Given the description of an element on the screen output the (x, y) to click on. 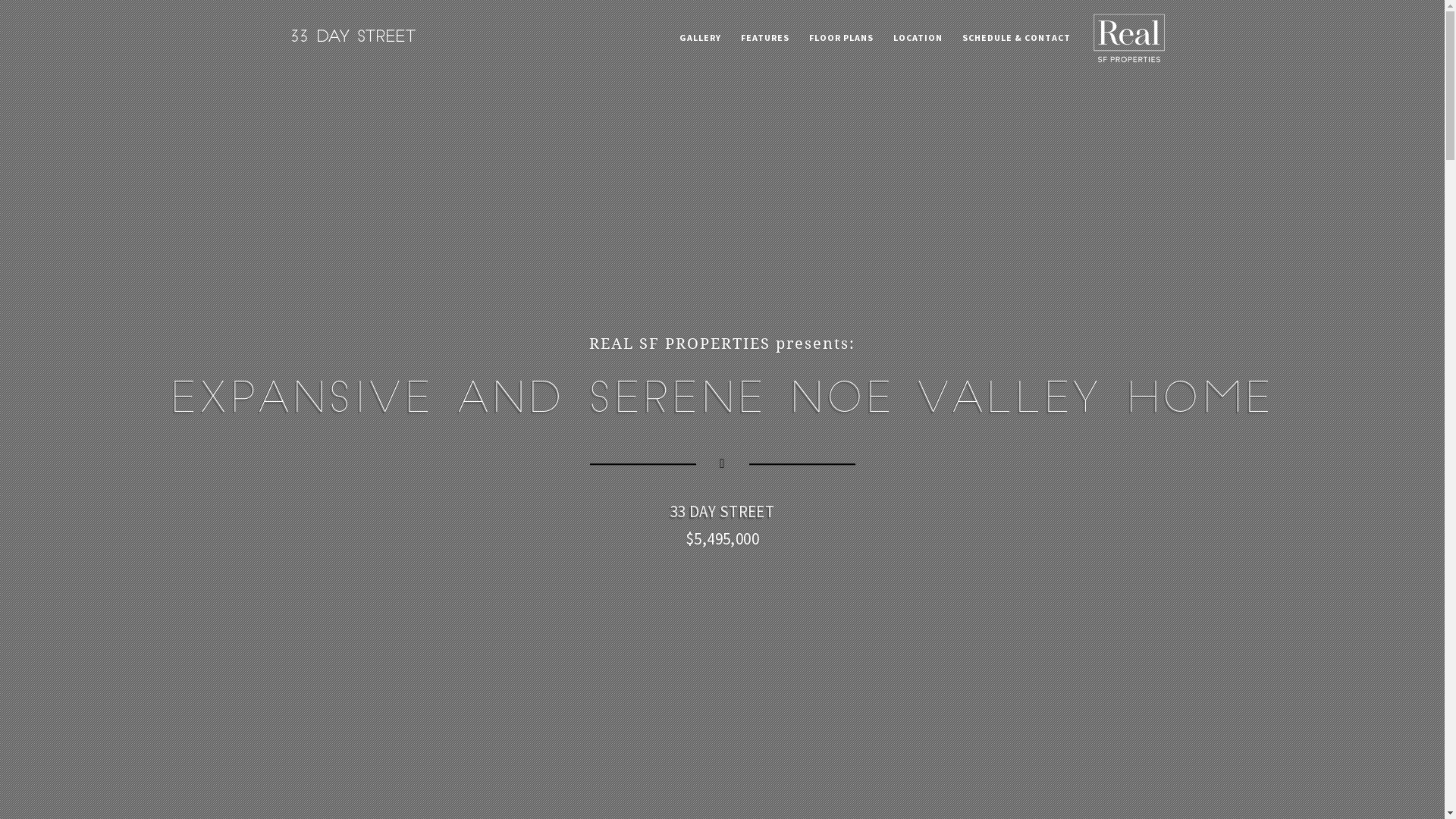
SCHEDULE & CONTACT Element type: text (1016, 37)
33 Day Street Element type: text (352, 34)
LOCATION Element type: text (917, 37)
GALLERY Element type: text (699, 37)
33 DAY STREET Element type: text (722, 511)
FLOOR PLANS Element type: text (841, 37)
FEATURES Element type: text (765, 37)
